Given the description of an element on the screen output the (x, y) to click on. 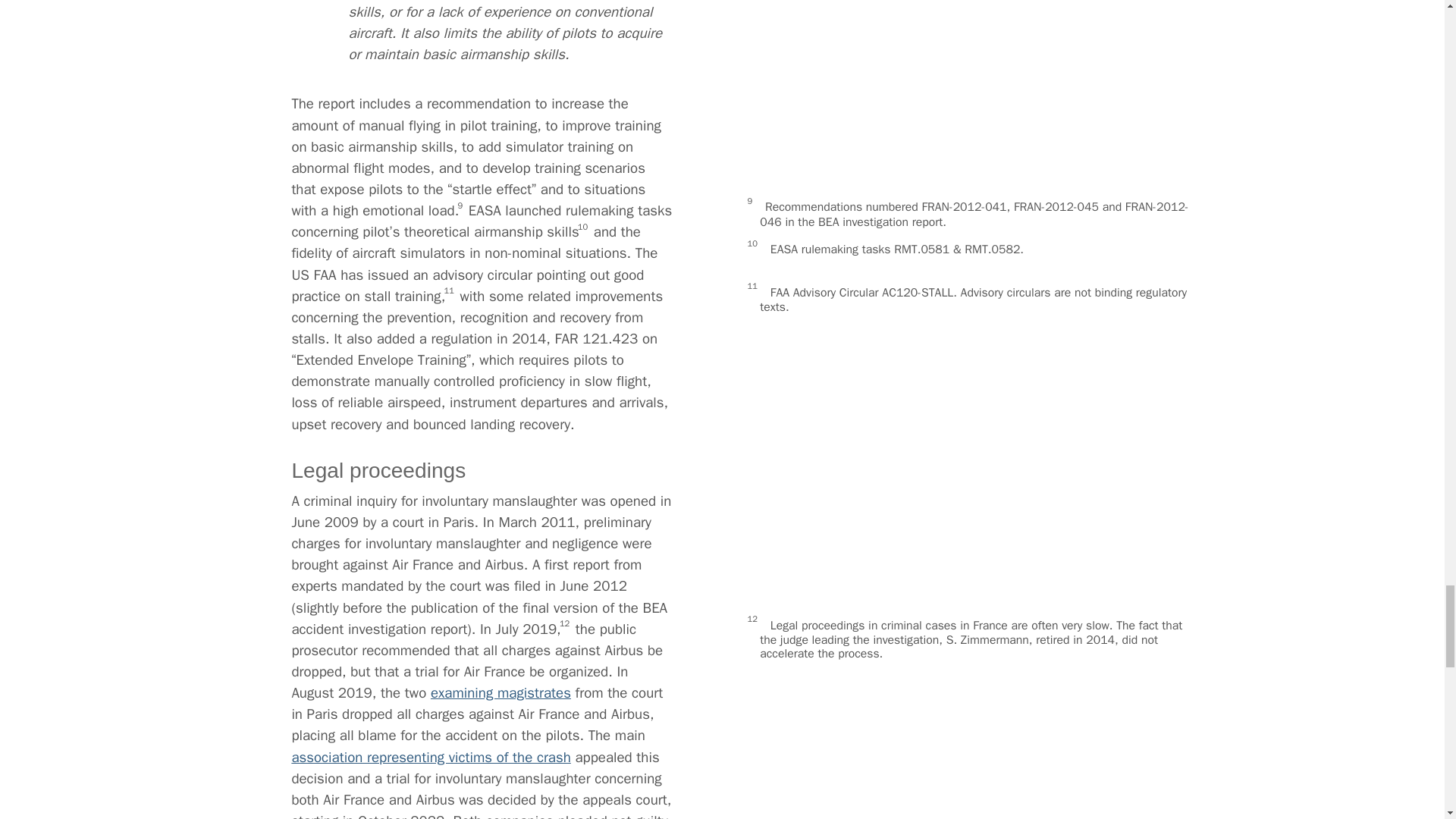
association representing victims of the crash (501, 239)
examining magistrates (410, 185)
Eric Marsden (690, 778)
Vanity Fair article (451, 533)
Wikipedia article on AF 447 (405, 668)
final report of the French BEA (437, 475)
System failure case study concerning this accident (512, 621)
